Given the description of an element on the screen output the (x, y) to click on. 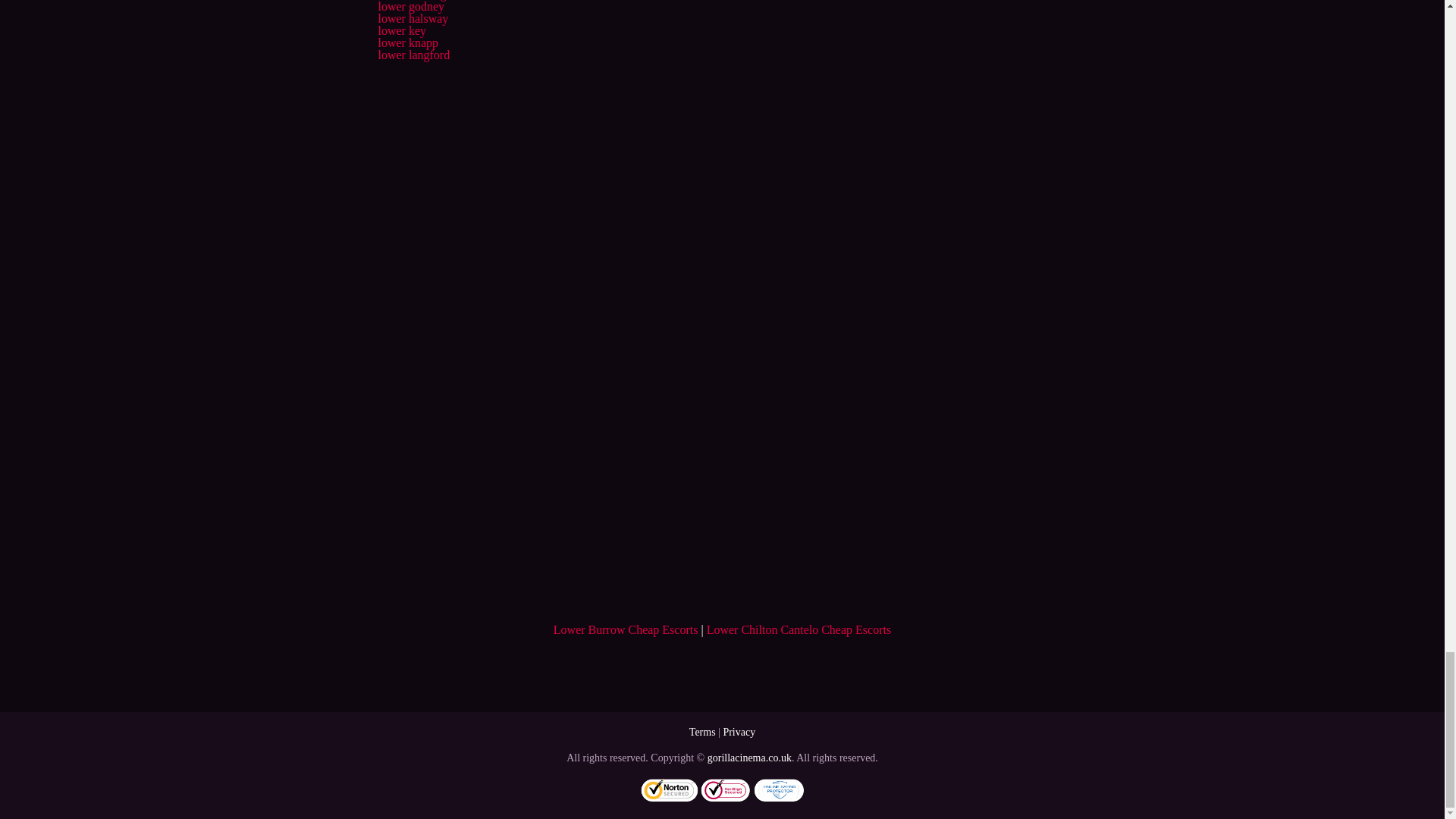
Privacy (738, 731)
lower knapp (407, 42)
gorillacinema.co.uk (749, 757)
Privacy (738, 731)
Lower Burrow Cheap Escorts (625, 629)
lower key (401, 30)
lower halsway (412, 18)
Lower Chilton Cantelo Cheap Escorts (798, 629)
lower langford (413, 54)
lower godney (410, 6)
Terms (702, 731)
Terms (702, 731)
